Given the description of an element on the screen output the (x, y) to click on. 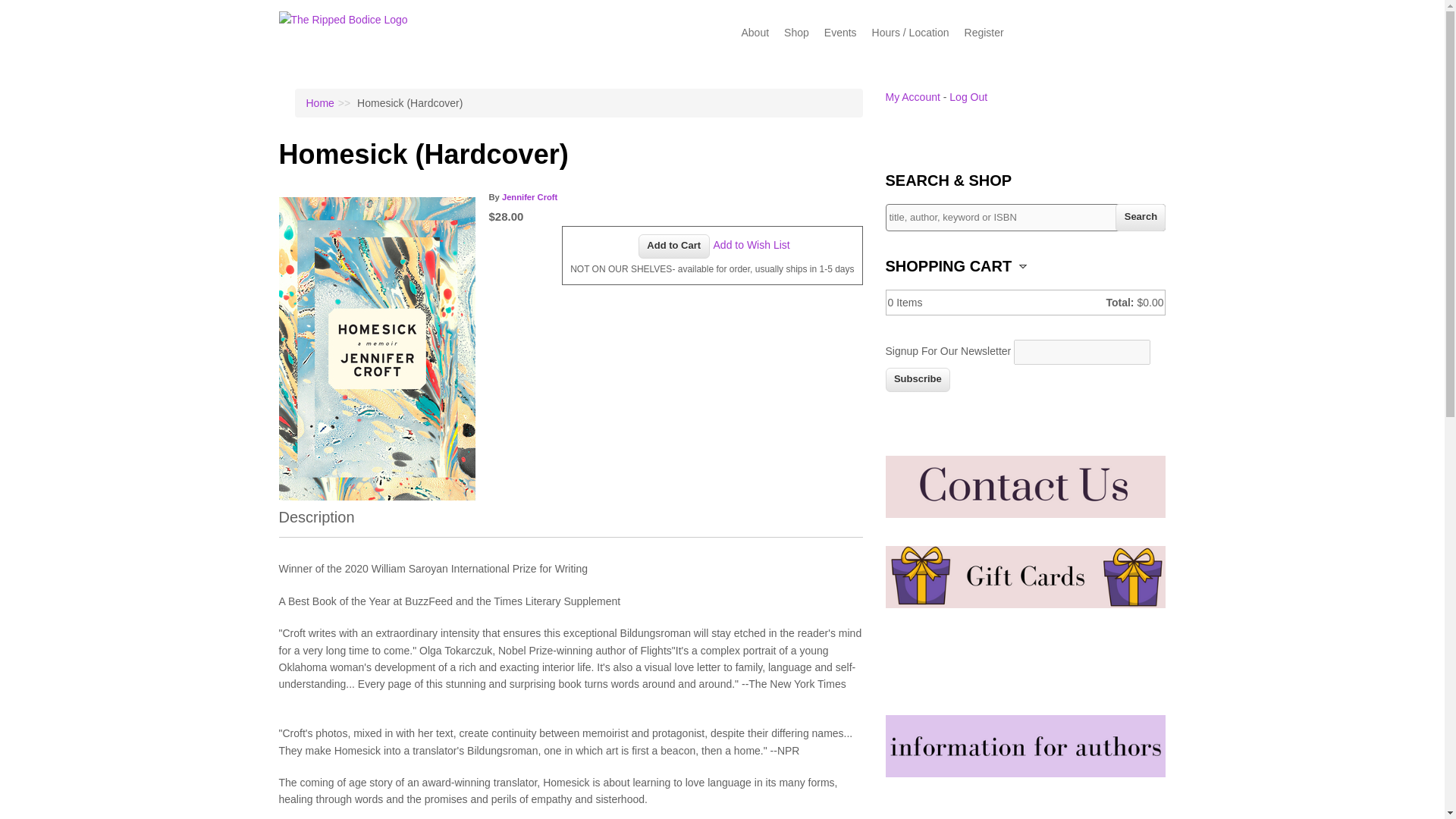
Home (319, 102)
Enter the terms you wish to search for. (1025, 216)
Add to Cart (674, 246)
Search (1140, 216)
Log Out (968, 96)
Shop (796, 32)
Register (983, 32)
Home (343, 19)
Events (840, 32)
